Given the description of an element on the screen output the (x, y) to click on. 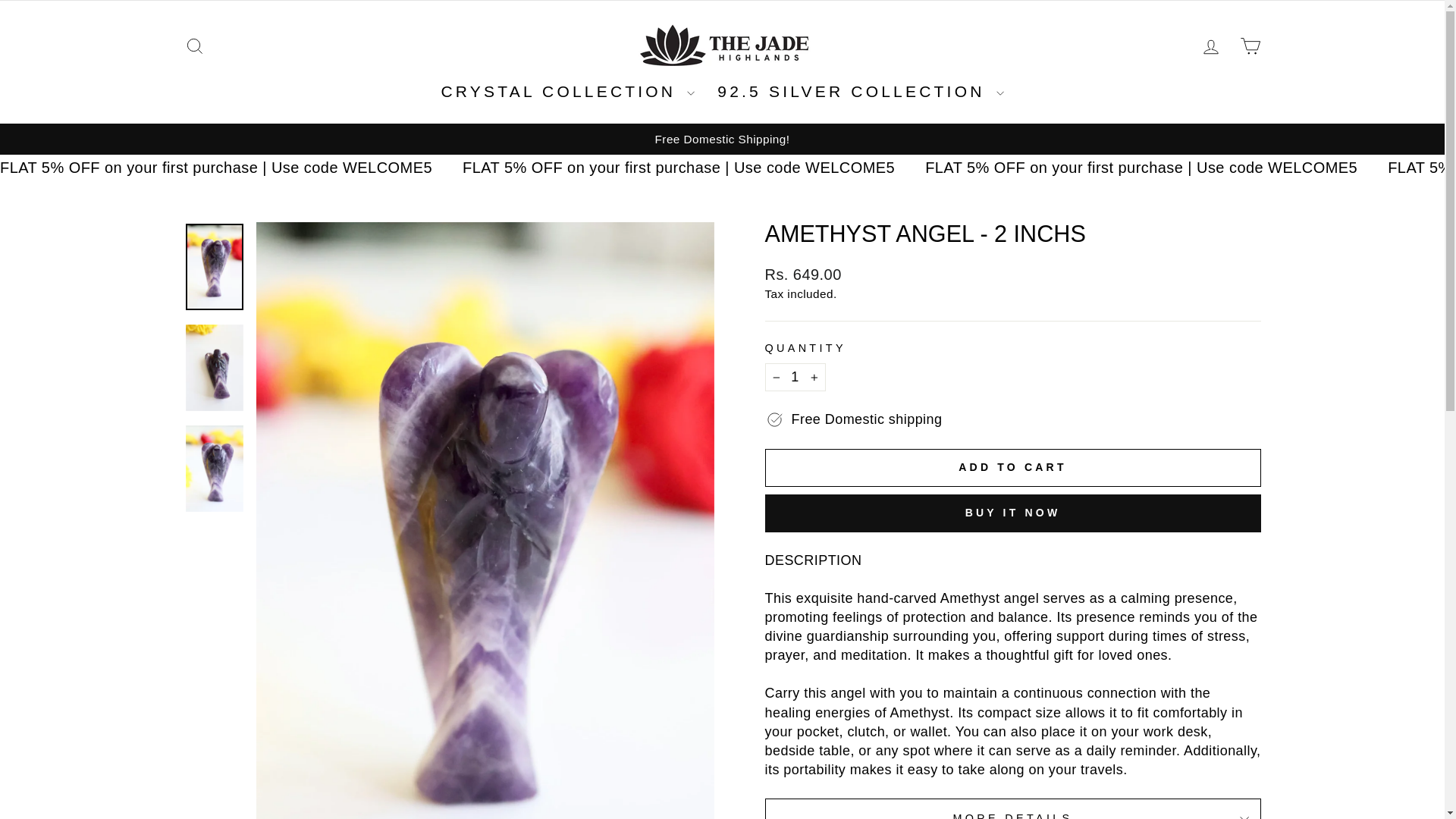
ACCOUNT (1210, 46)
ICON-SEARCH (194, 46)
1 (794, 377)
